Given the description of an element on the screen output the (x, y) to click on. 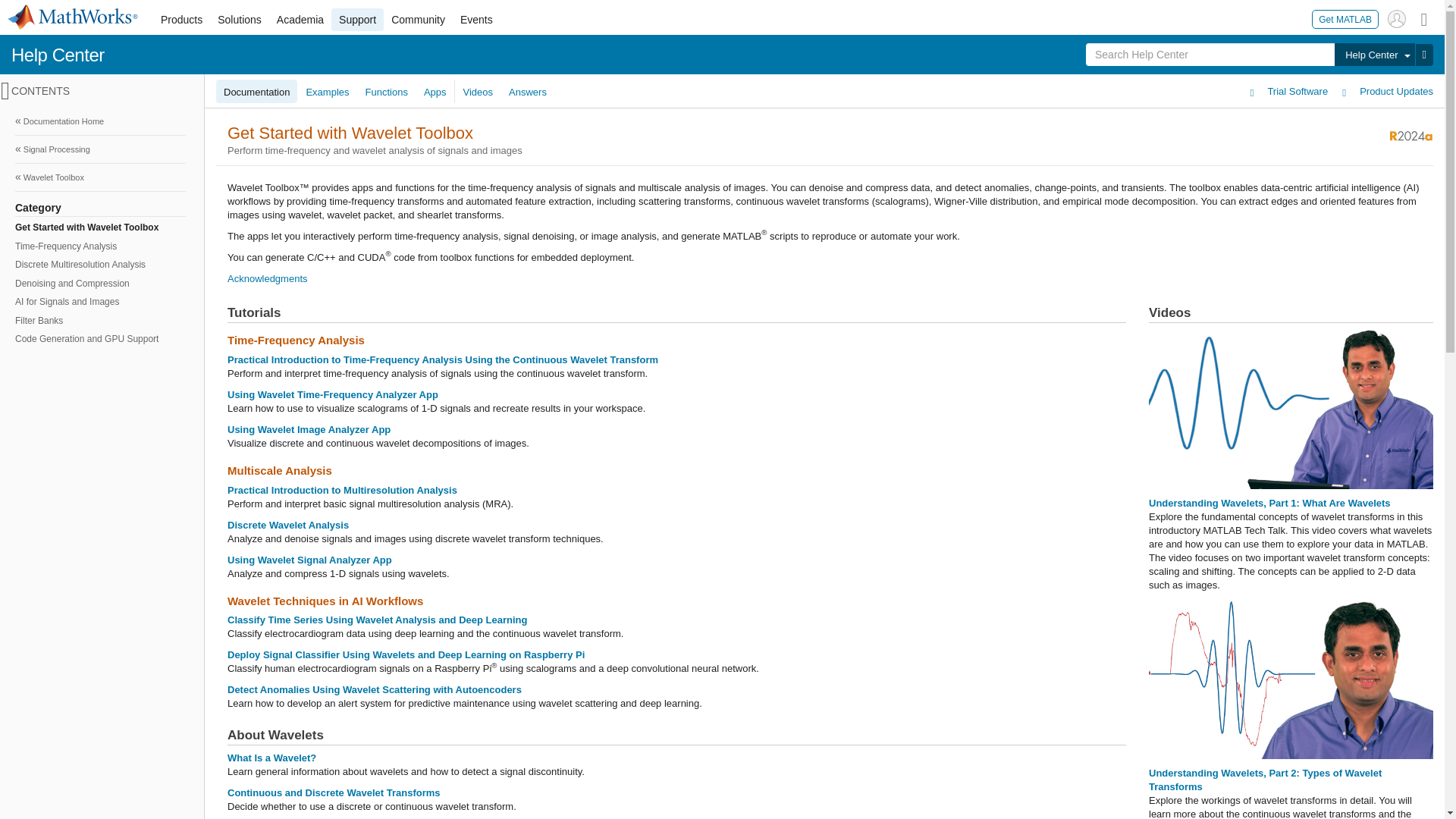
Products (180, 19)
Wavelet Toolbox (100, 176)
Signal Processing (100, 149)
Support (357, 19)
Events (476, 19)
Academia (300, 19)
Documentation Home (100, 121)
Matrix Menu (1423, 18)
Help Center (1374, 54)
Sign In to Your MathWorks Account (1396, 18)
